Given the description of an element on the screen output the (x, y) to click on. 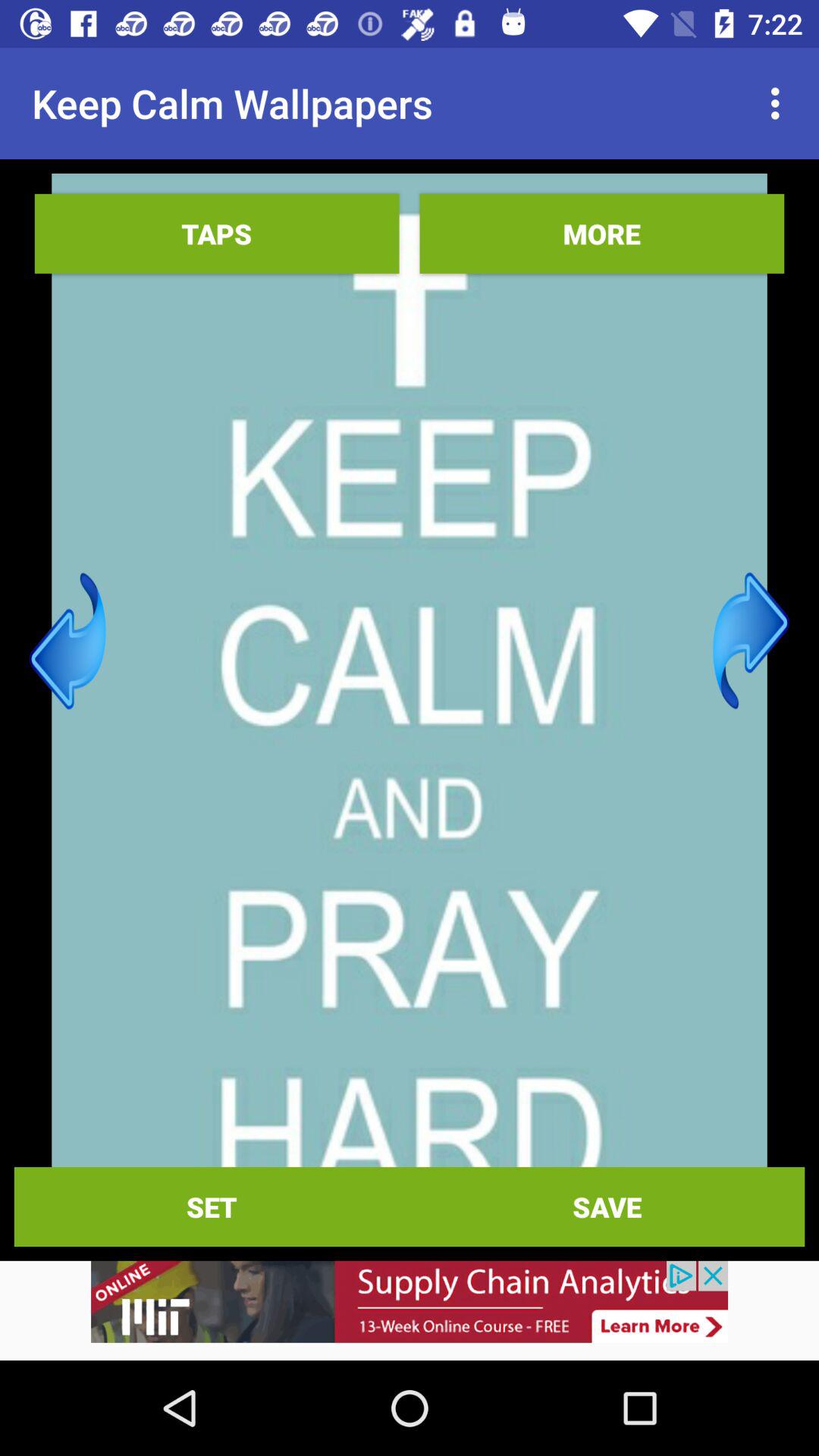
click advertisement (409, 1310)
